Given the description of an element on the screen output the (x, y) to click on. 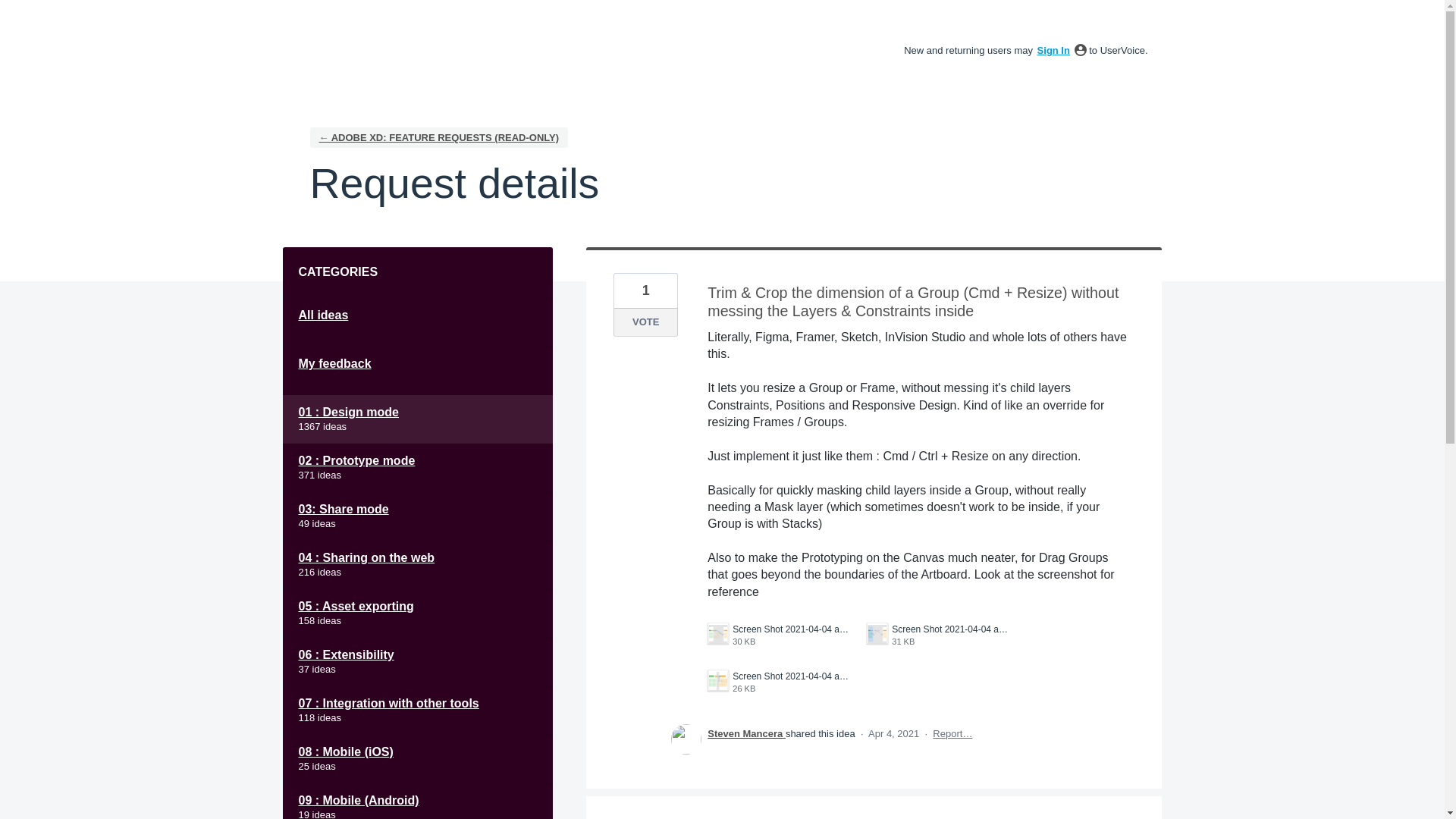
All ideas (417, 322)
View all ideas in category 03: Share mode (417, 516)
My feedback (417, 370)
03: Share mode (779, 682)
05 : Asset exporting (779, 635)
View all ideas in category 01 : Design mode (417, 516)
Skip to content (417, 613)
02 : Prototype mode (417, 418)
View all ideas in category 07 : Integration with other tools (12, 12)
01 : Design mode (417, 467)
View all ideas in category 02 : Prototype mode (417, 710)
View Screen Shot 2021-04-04 at 7.03.45 PM.png (417, 418)
